Given the description of an element on the screen output the (x, y) to click on. 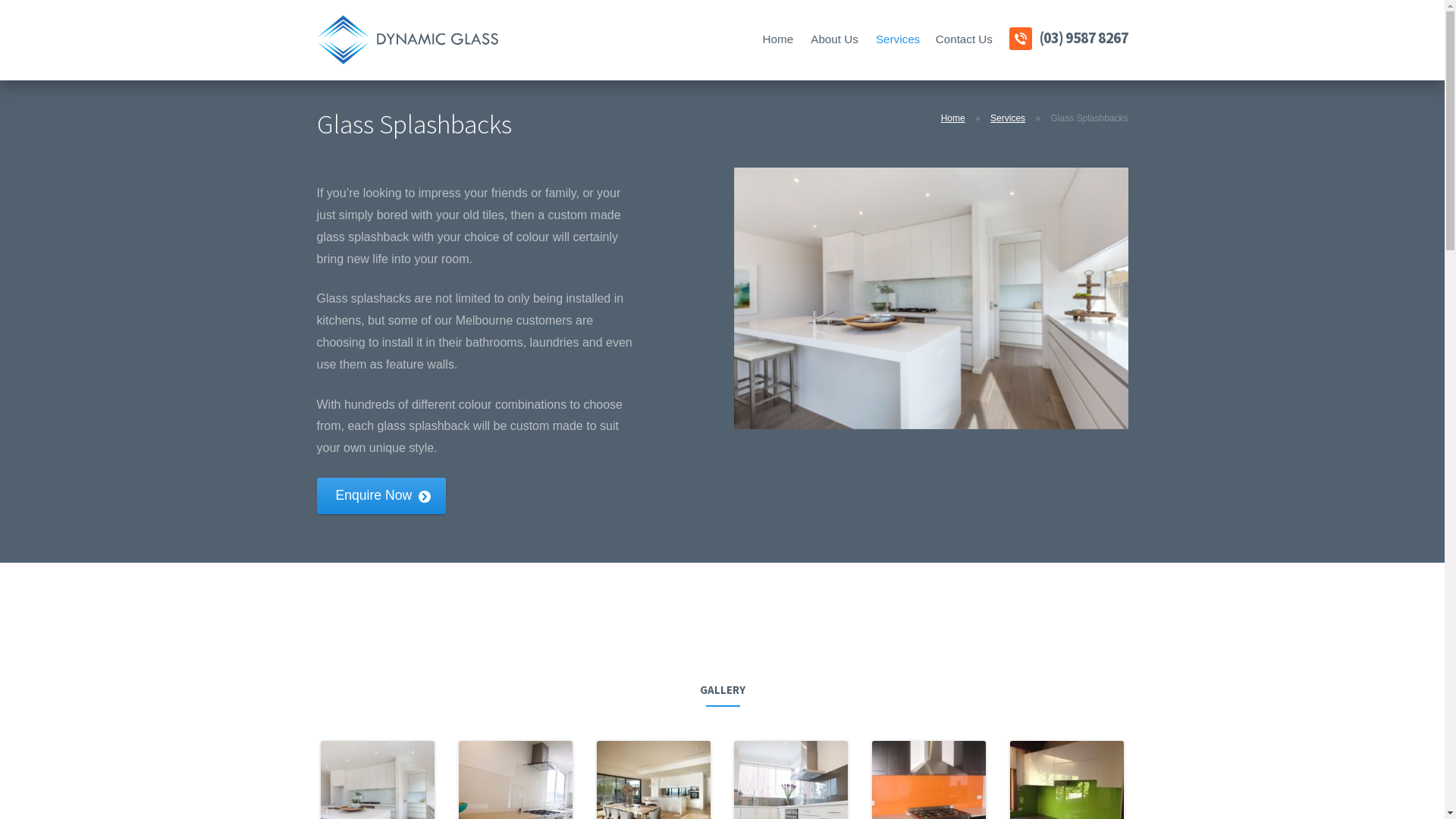
Dynamic Glass Element type: text (407, 39)
Home Element type: text (777, 38)
Services Element type: text (896, 38)
About Us Element type: text (834, 38)
Home Element type: text (953, 117)
Services Element type: text (1007, 117)
Contact Us Element type: text (963, 38)
Enquire Now Element type: text (381, 495)
White glass splashback Element type: hover (931, 298)
